Given the description of an element on the screen output the (x, y) to click on. 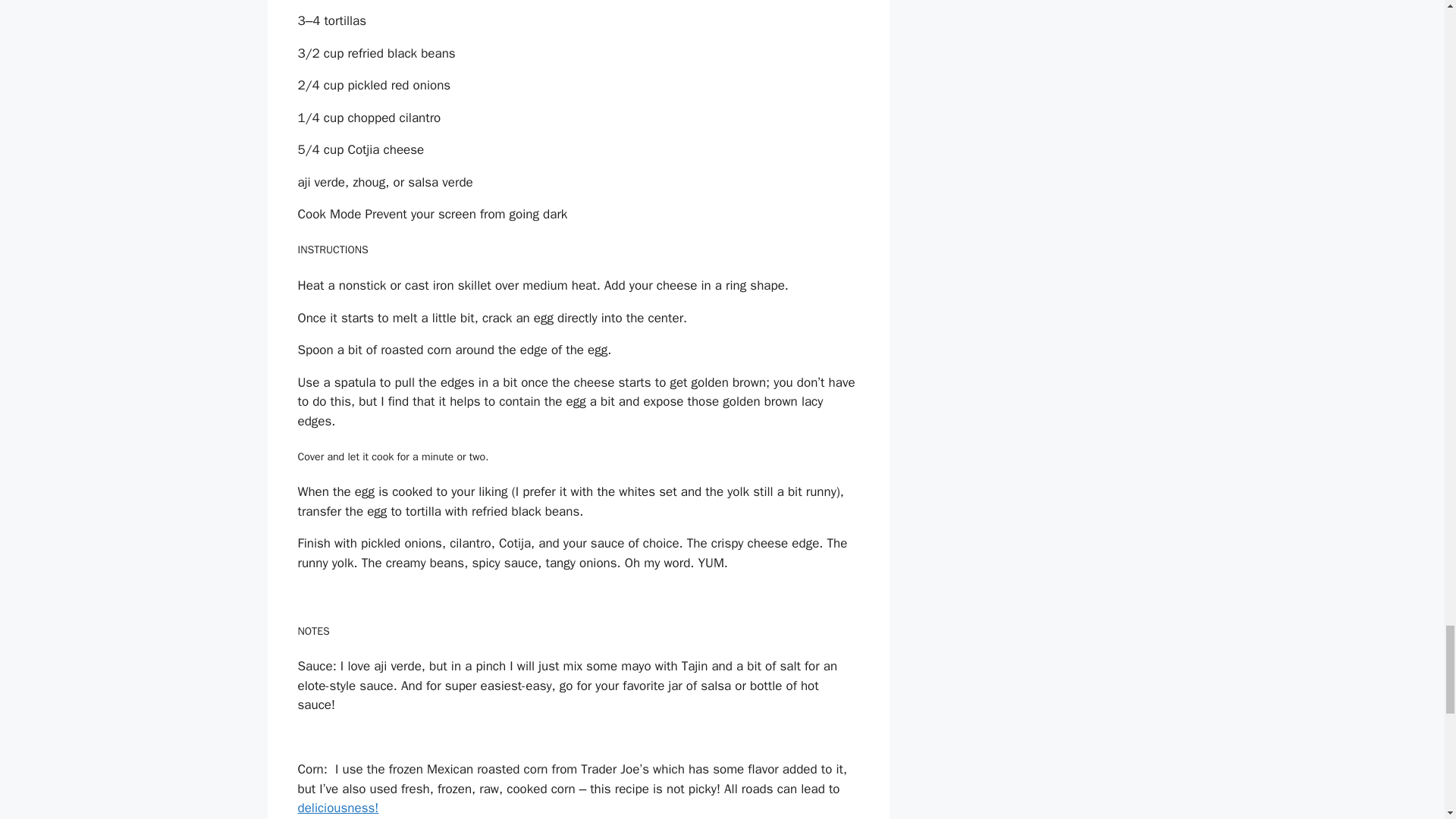
deliciousness! (337, 807)
